Given the description of an element on the screen output the (x, y) to click on. 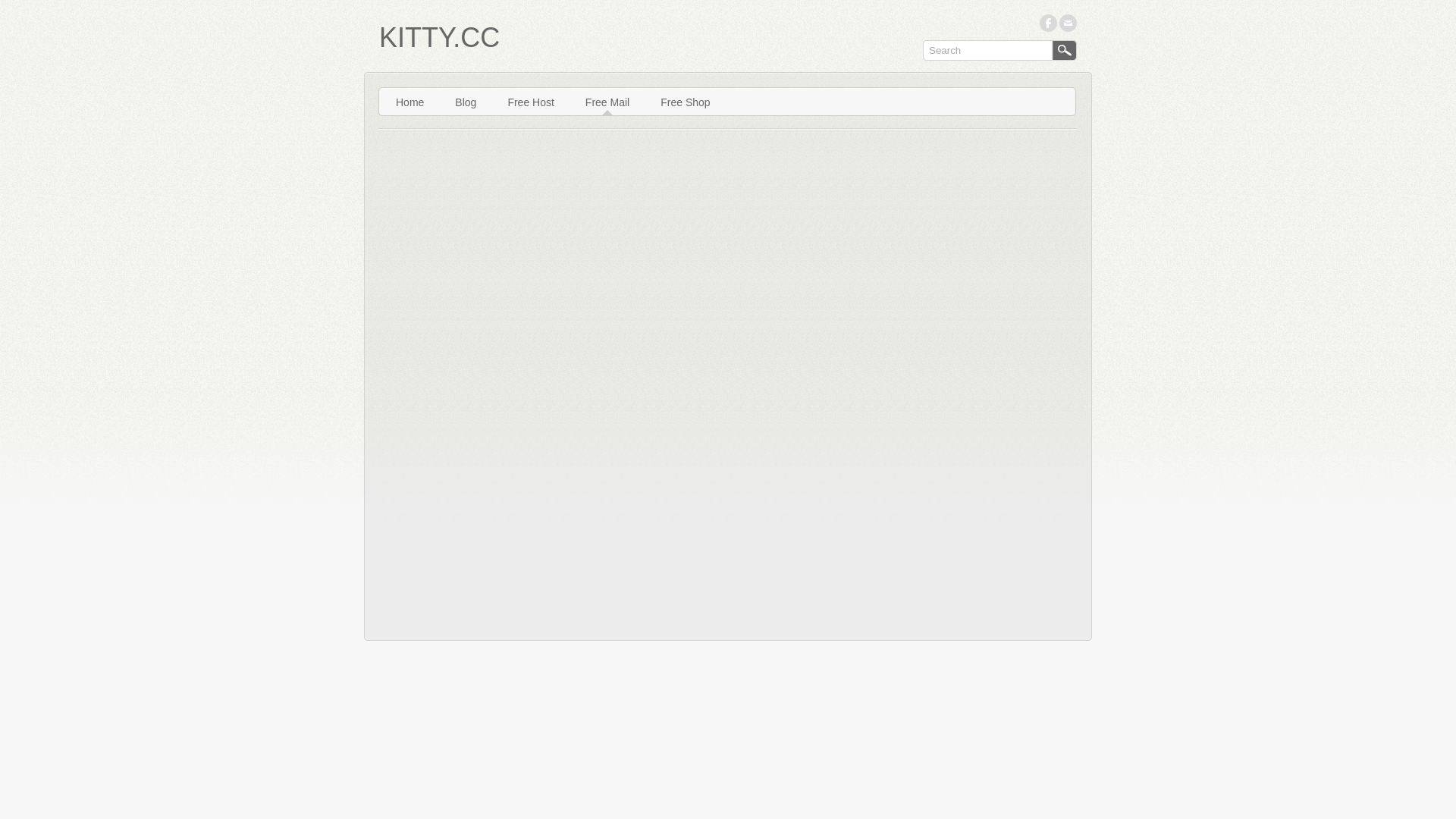
KITTY.CC Element type: text (439, 37)
Home Element type: text (409, 101)
Advertisement Element type: hover (824, 682)
Advertisement Element type: hover (556, 682)
Free Shop Element type: text (684, 101)
Blog Element type: text (465, 101)
Free Mail Element type: text (607, 101)
Free Host Element type: text (530, 101)
